Given the description of an element on the screen output the (x, y) to click on. 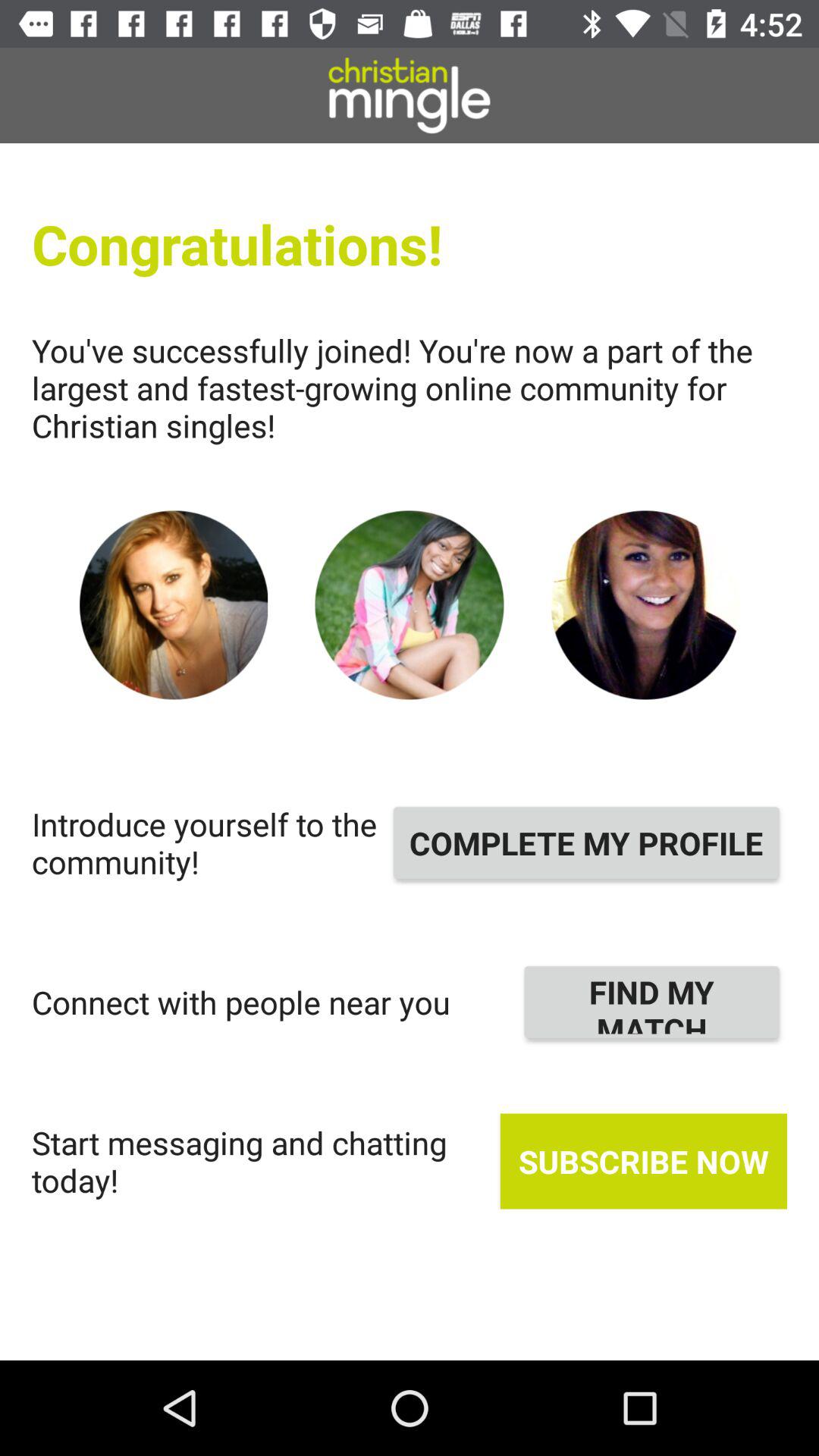
jump to the subscribe now icon (643, 1161)
